Given the description of an element on the screen output the (x, y) to click on. 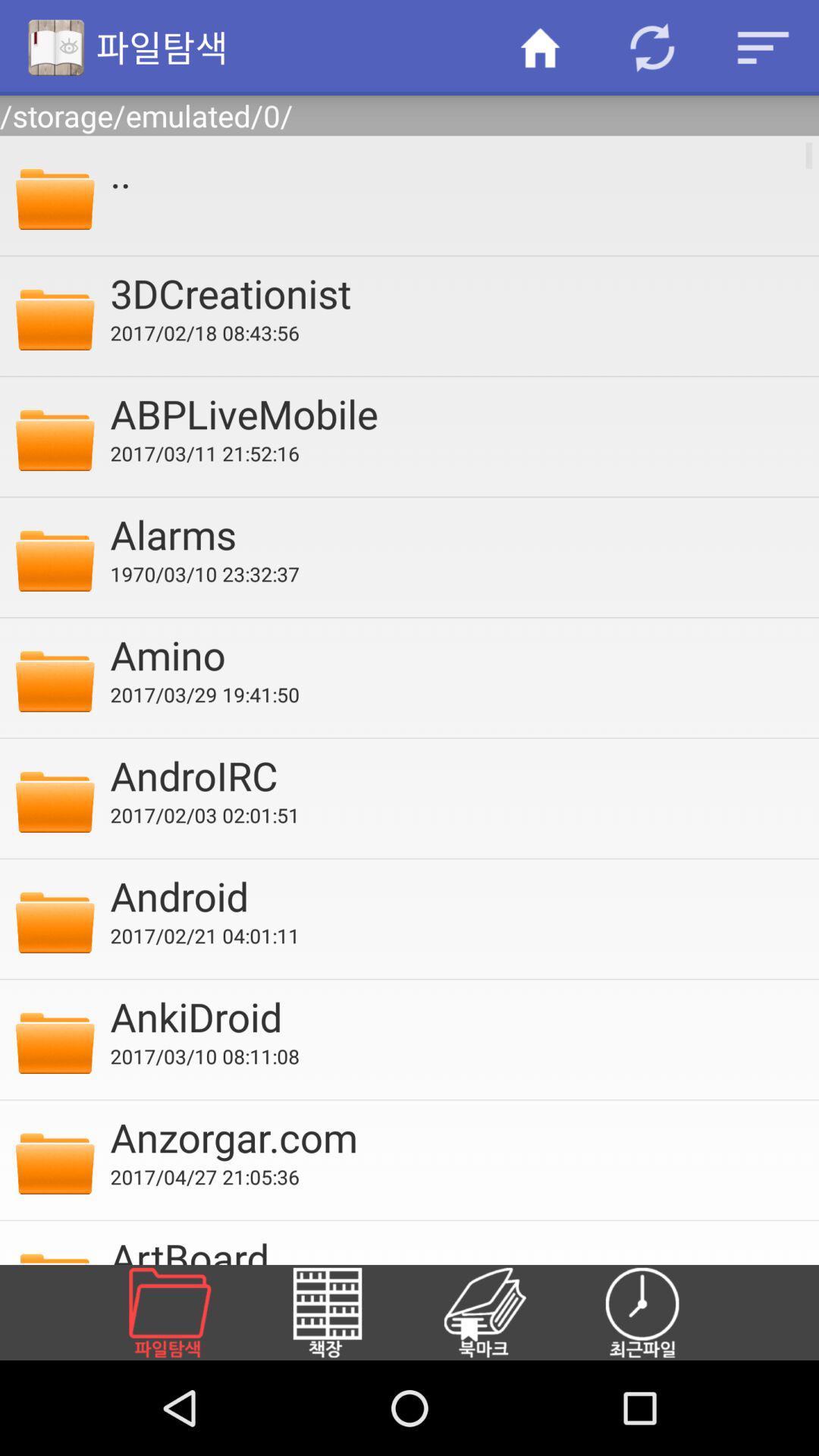
click the icon below the 2017 03 10 app (454, 1136)
